Given the description of an element on the screen output the (x, y) to click on. 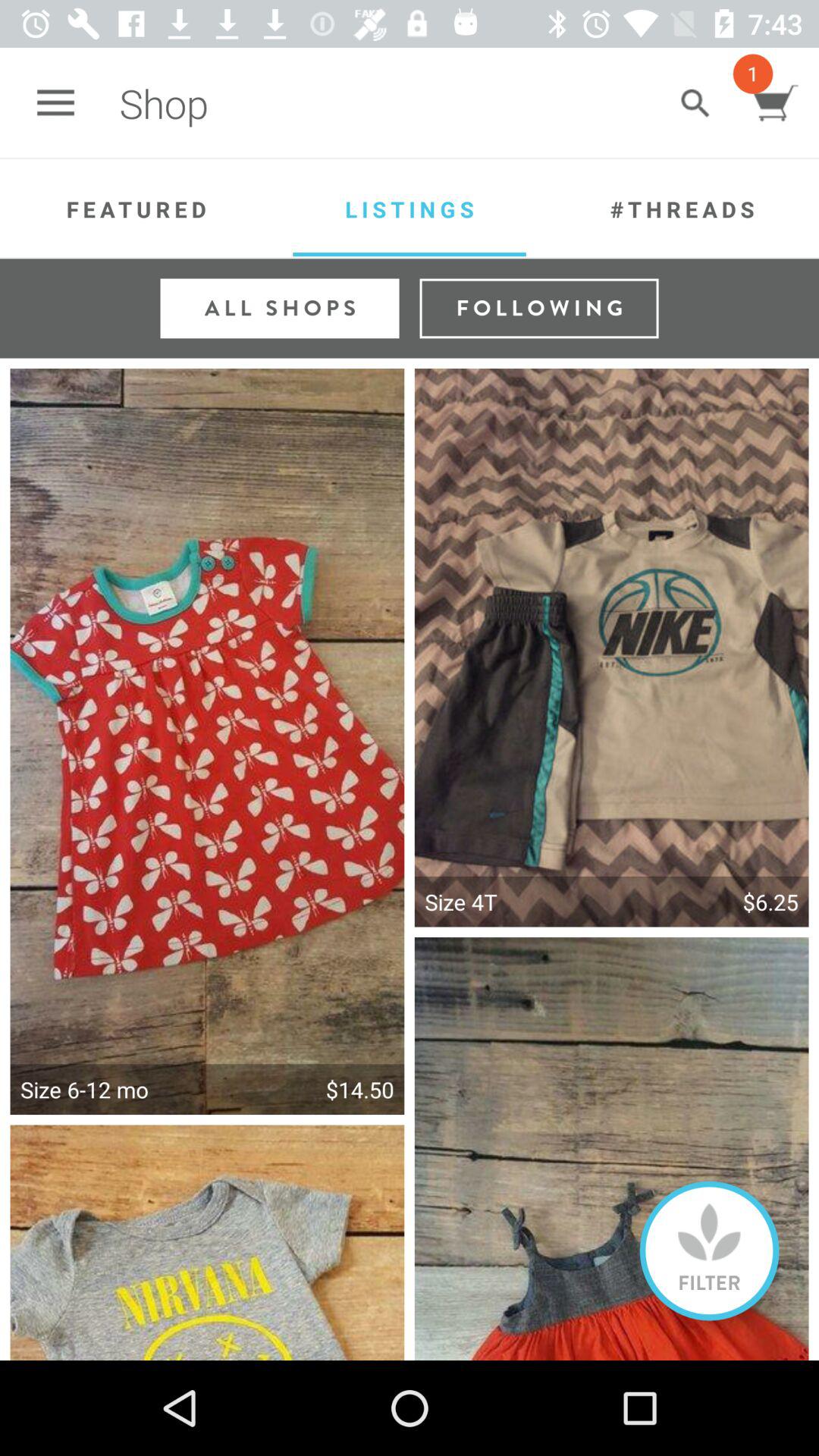
allows the user to search (695, 103)
